Given the description of an element on the screen output the (x, y) to click on. 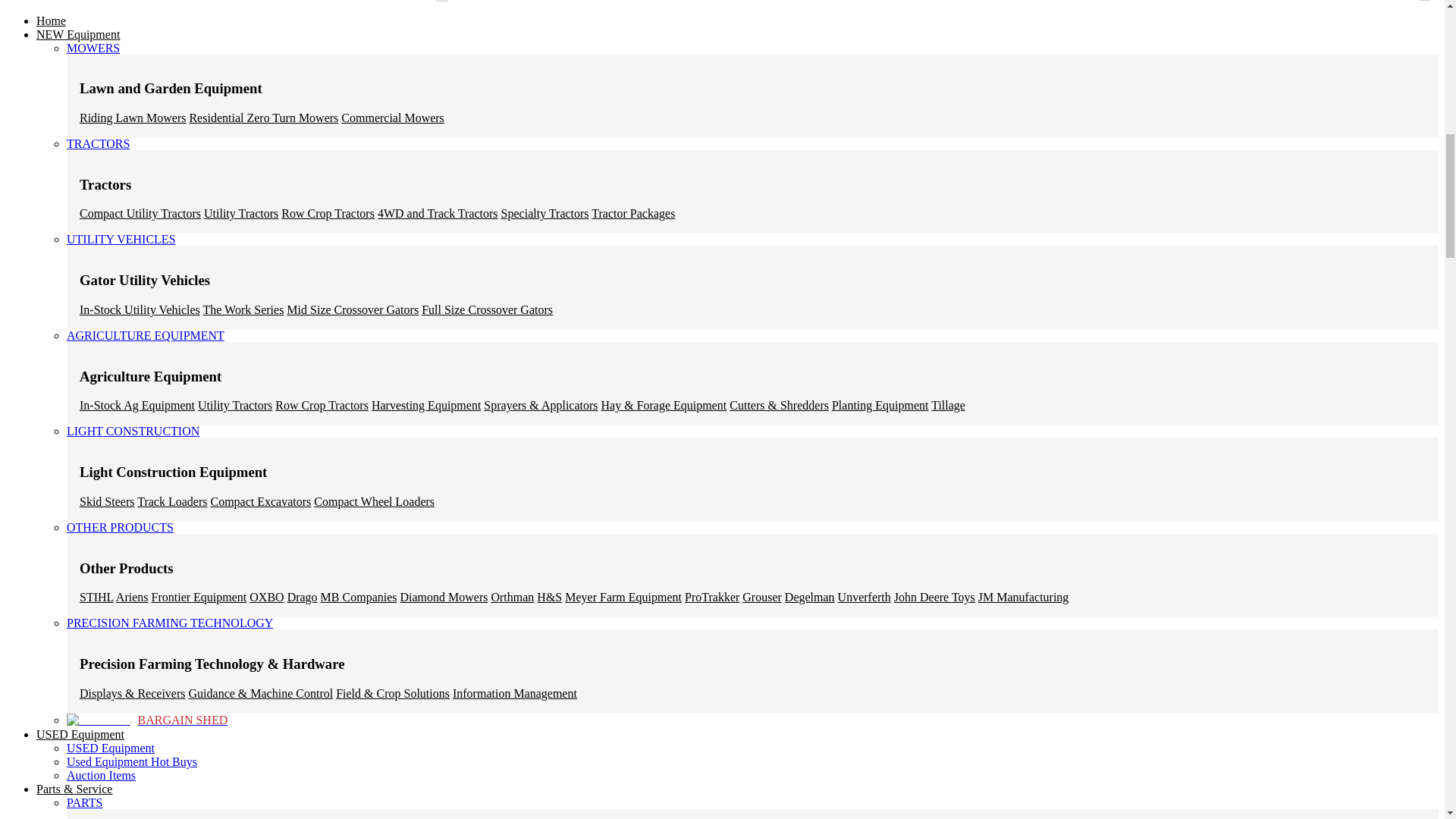
In-Stock Ag Equipment (137, 404)
The Work Series (243, 309)
Home (50, 20)
Row Crop Tractors (327, 213)
Tractor Packages (633, 213)
Commercial Mowers (392, 117)
Harvesting Equipment (425, 404)
UTILITY VEHICLES (121, 242)
4WD and Track Tractors (437, 213)
NEW Equipment (77, 33)
Specialty Tractors (544, 213)
Riding Lawn Mowers (133, 117)
MOWERS (92, 51)
TRACTORS (97, 147)
Row Crop Tractors (321, 404)
